Given the description of an element on the screen output the (x, y) to click on. 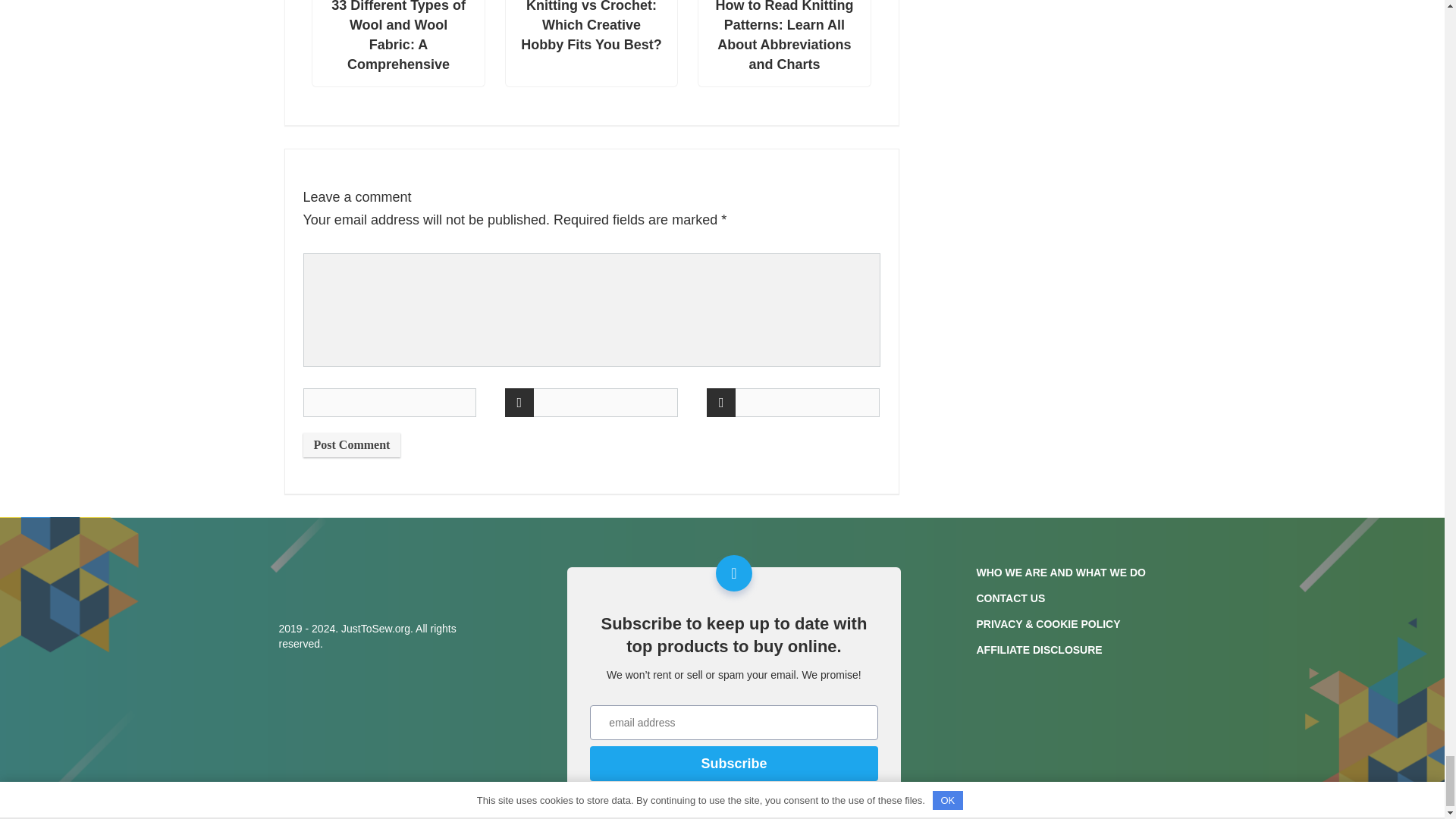
DMCA.com Protection Status (1090, 789)
